Given the description of an element on the screen output the (x, y) to click on. 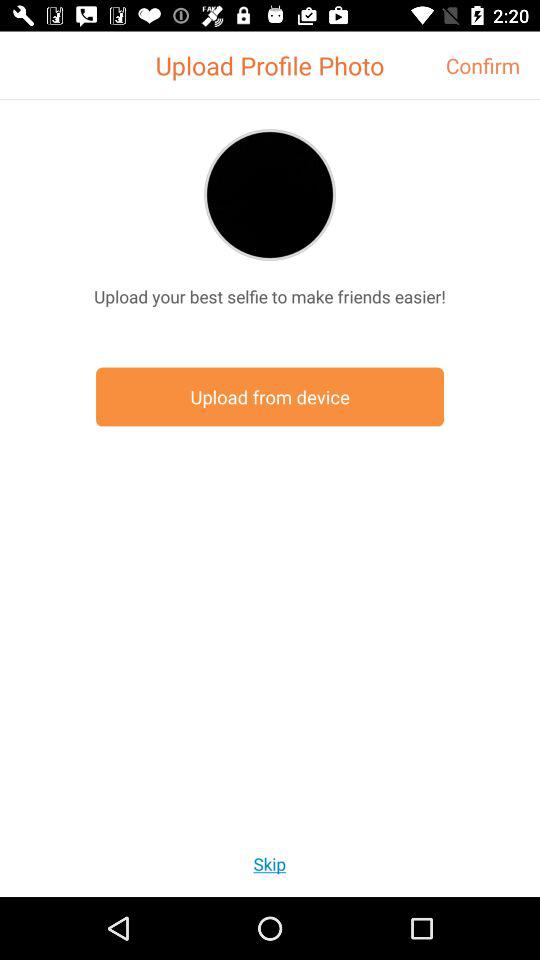
tap icon above upload your best (269, 194)
